Given the description of an element on the screen output the (x, y) to click on. 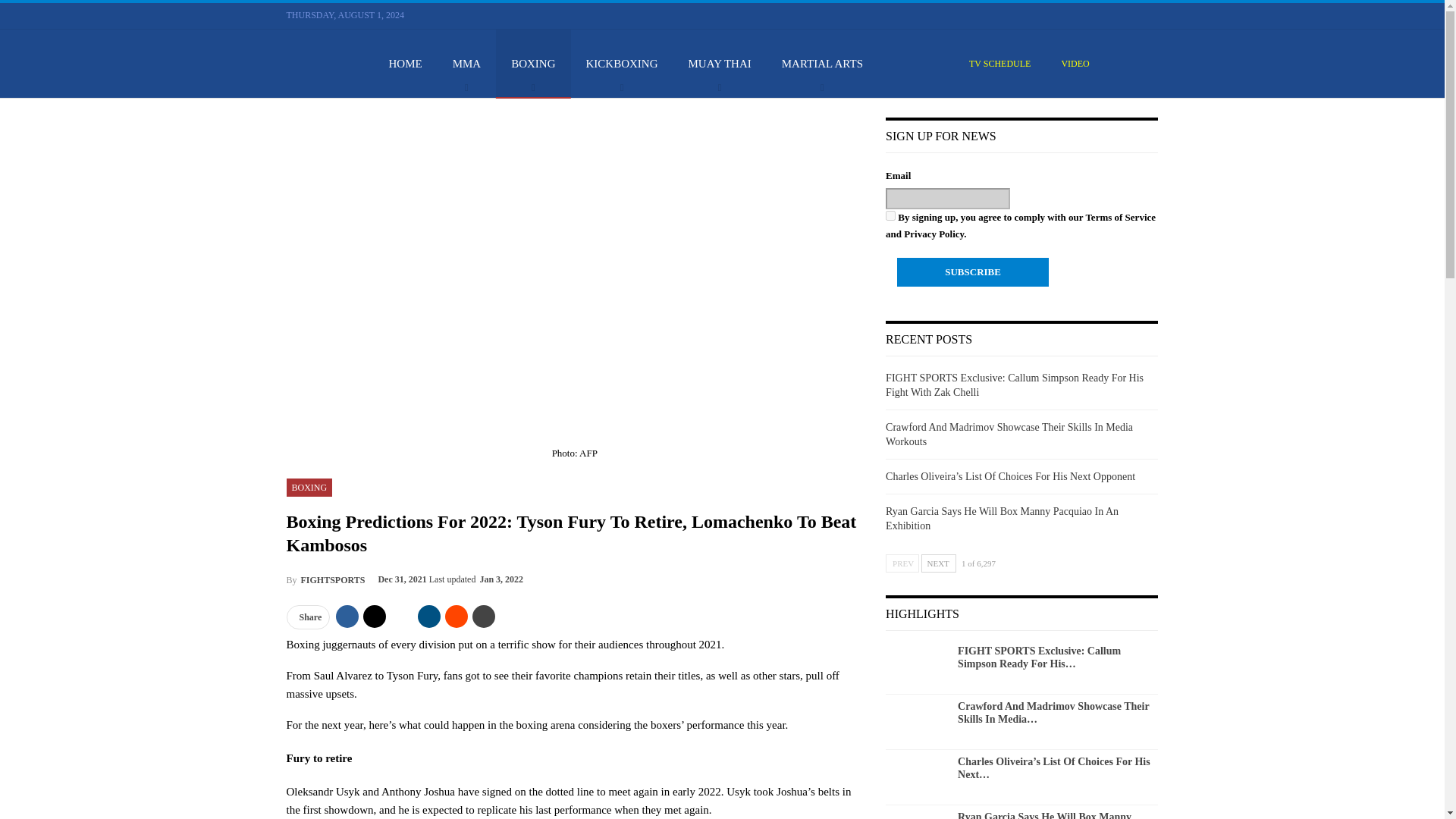
twitter (1096, 13)
instagram (1132, 13)
twitter (1096, 14)
instagram (1132, 14)
facebook (1078, 14)
Subscribe (972, 271)
BOXING (533, 63)
HOME (404, 63)
KICKBOXING (621, 63)
youtube (1114, 14)
youtube (1114, 13)
on (890, 215)
facebook (1077, 13)
